Given the description of an element on the screen output the (x, y) to click on. 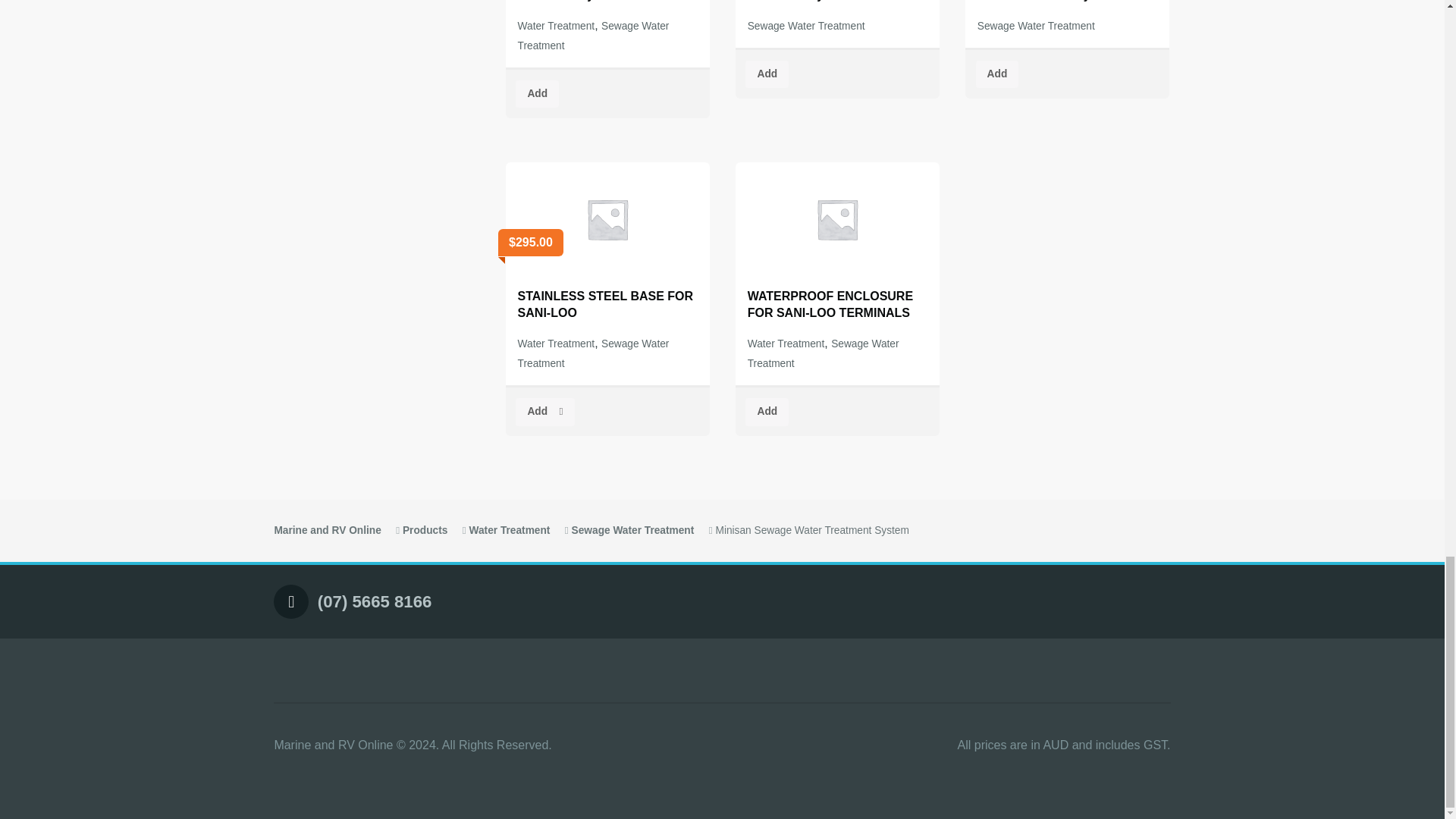
Products (424, 530)
Marine and RV Online (326, 530)
View Sewage Water Treatment (633, 530)
Electroscan Sewage Water Treatment System (837, 7)
Add (537, 94)
View Water Treatment (509, 530)
Water Treatment (556, 25)
Sewage Water Treatment (593, 35)
